Given the description of an element on the screen output the (x, y) to click on. 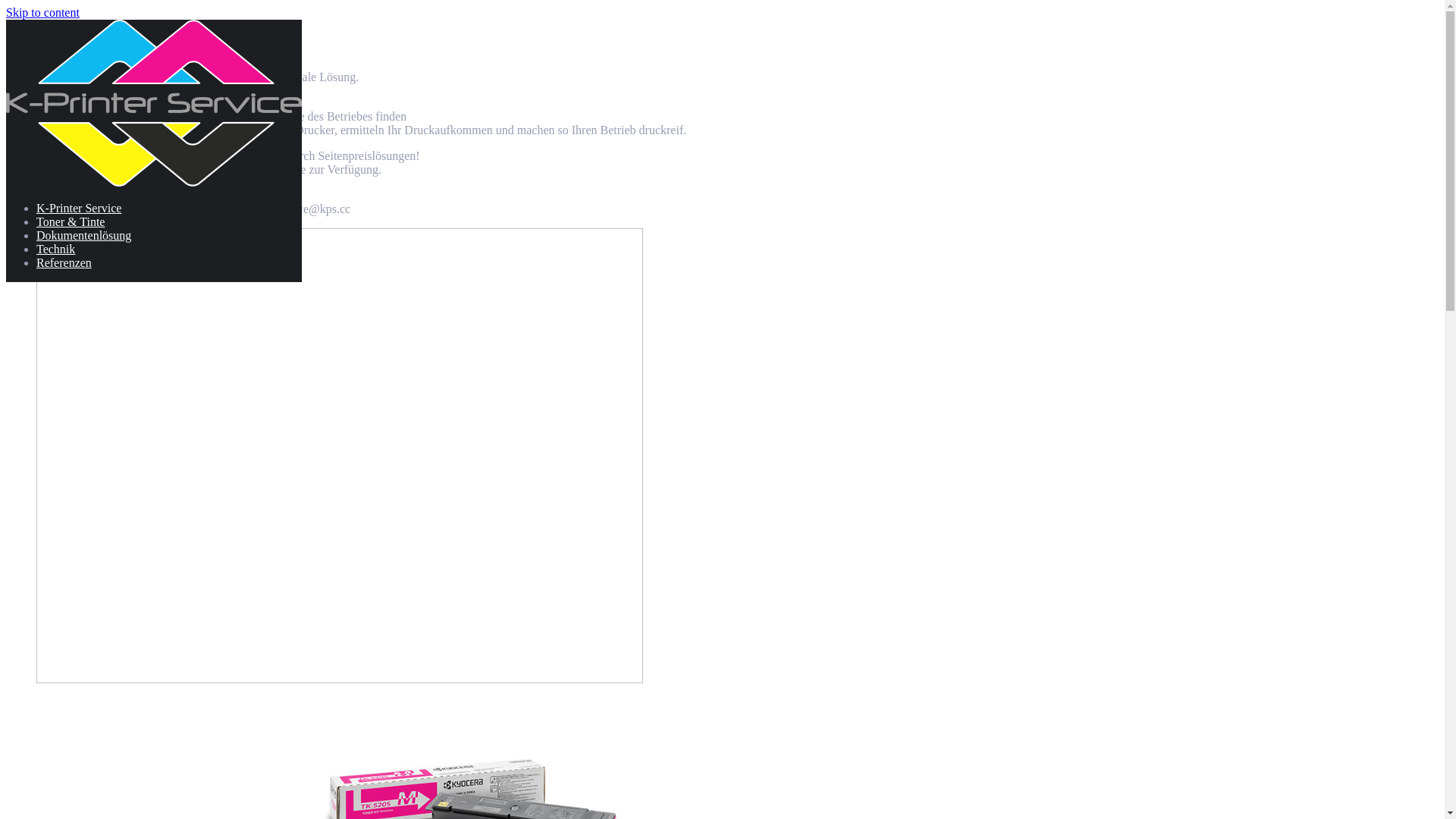
Technik Element type: text (55, 248)
Skip to content Element type: text (42, 12)
Referenzen Element type: text (63, 262)
K-Pinter Service Element type: hover (153, 181)
Toner & Tinte Element type: text (70, 221)
K-Printer Service Element type: text (78, 207)
